Given the description of an element on the screen output the (x, y) to click on. 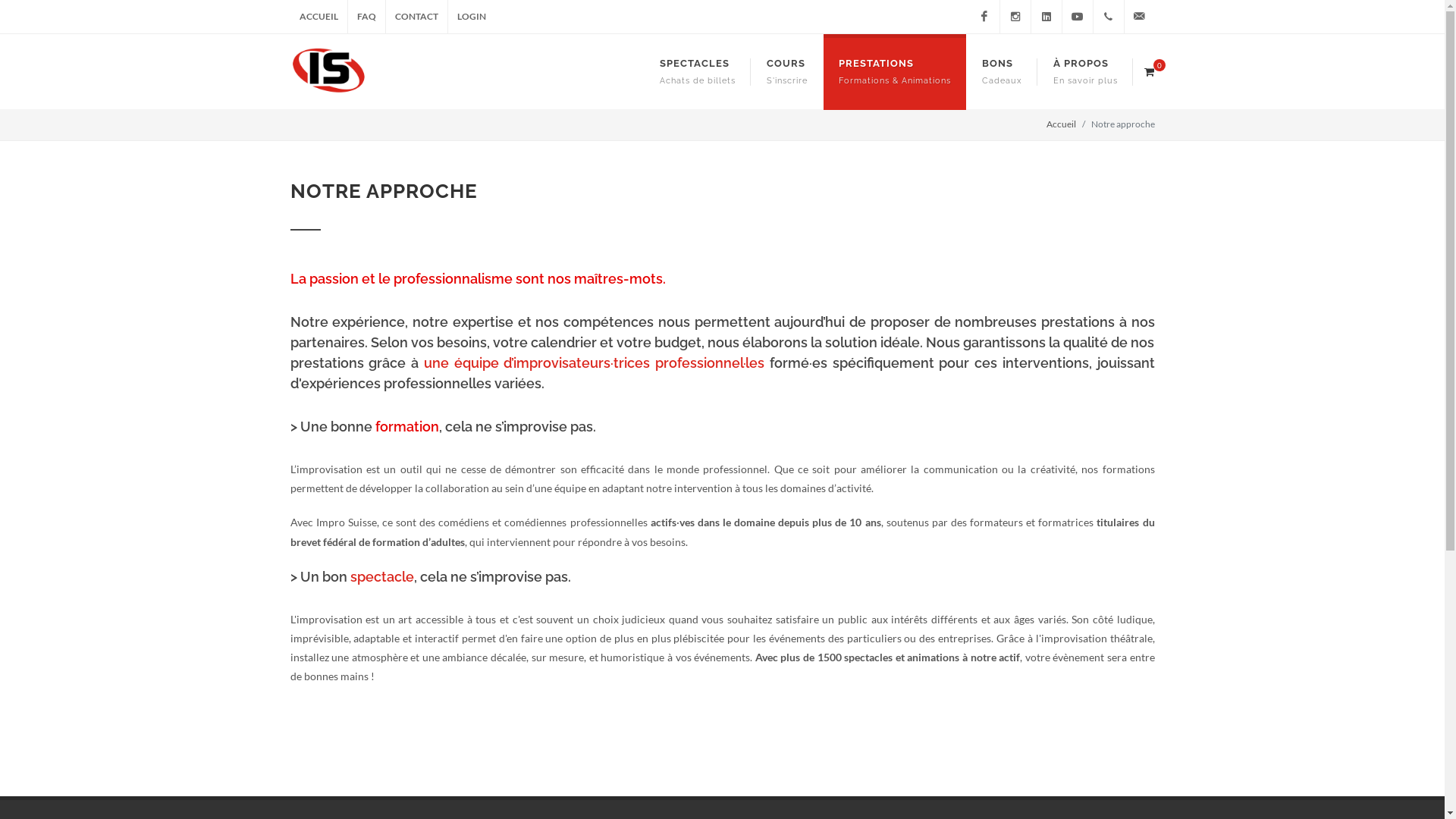
LOGIN Element type: text (470, 16)
ACCUEIL Element type: text (317, 16)
info@impro-suisse.ch Element type: hover (1138, 16)
Accueil Element type: text (1061, 123)
spectacle Element type: text (382, 576)
COURS
S'inscrire Element type: text (786, 71)
SPECTACLES
Achats de billets Element type: text (697, 71)
0 Element type: text (1148, 69)
Impro Suisse Element type: hover (984, 16)
Impro Suisse Element type: hover (1014, 16)
Impro Suisse Element type: hover (1046, 16)
FAQ Element type: text (365, 16)
Impro Suisse Element type: hover (1076, 16)
formation Element type: text (406, 426)
PRESTATIONS
Formations & Animations Element type: text (894, 71)
CONTACT Element type: text (415, 16)
BONS
Cadeaux Element type: text (1001, 71)
